Given the description of an element on the screen output the (x, y) to click on. 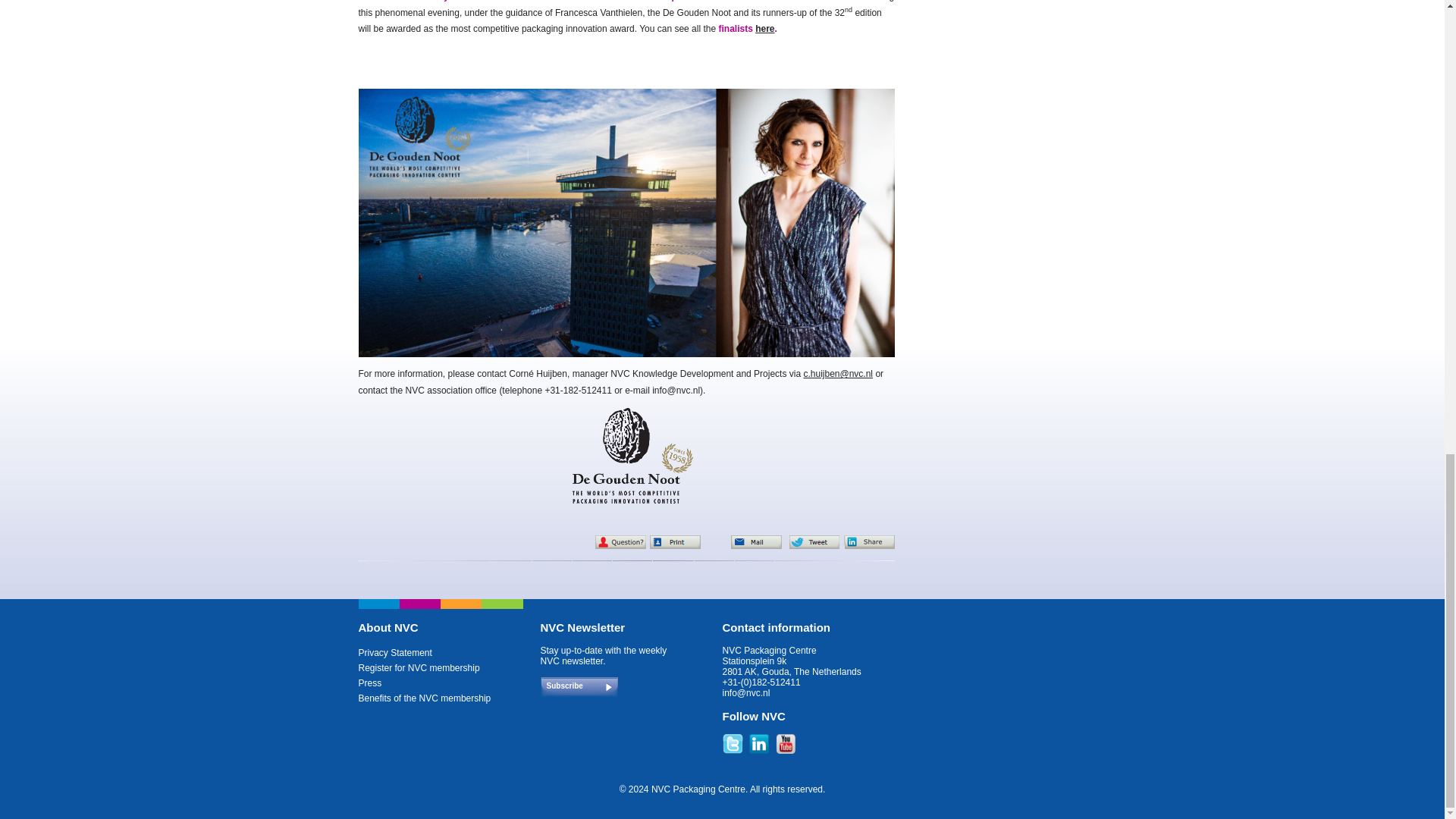
Press (369, 683)
Subscribe (581, 688)
Benefits of the NVC membership (424, 697)
here (764, 28)
Register for NVC membership (418, 667)
Privacy Statement (394, 652)
About NVC (387, 626)
